Given the description of an element on the screen output the (x, y) to click on. 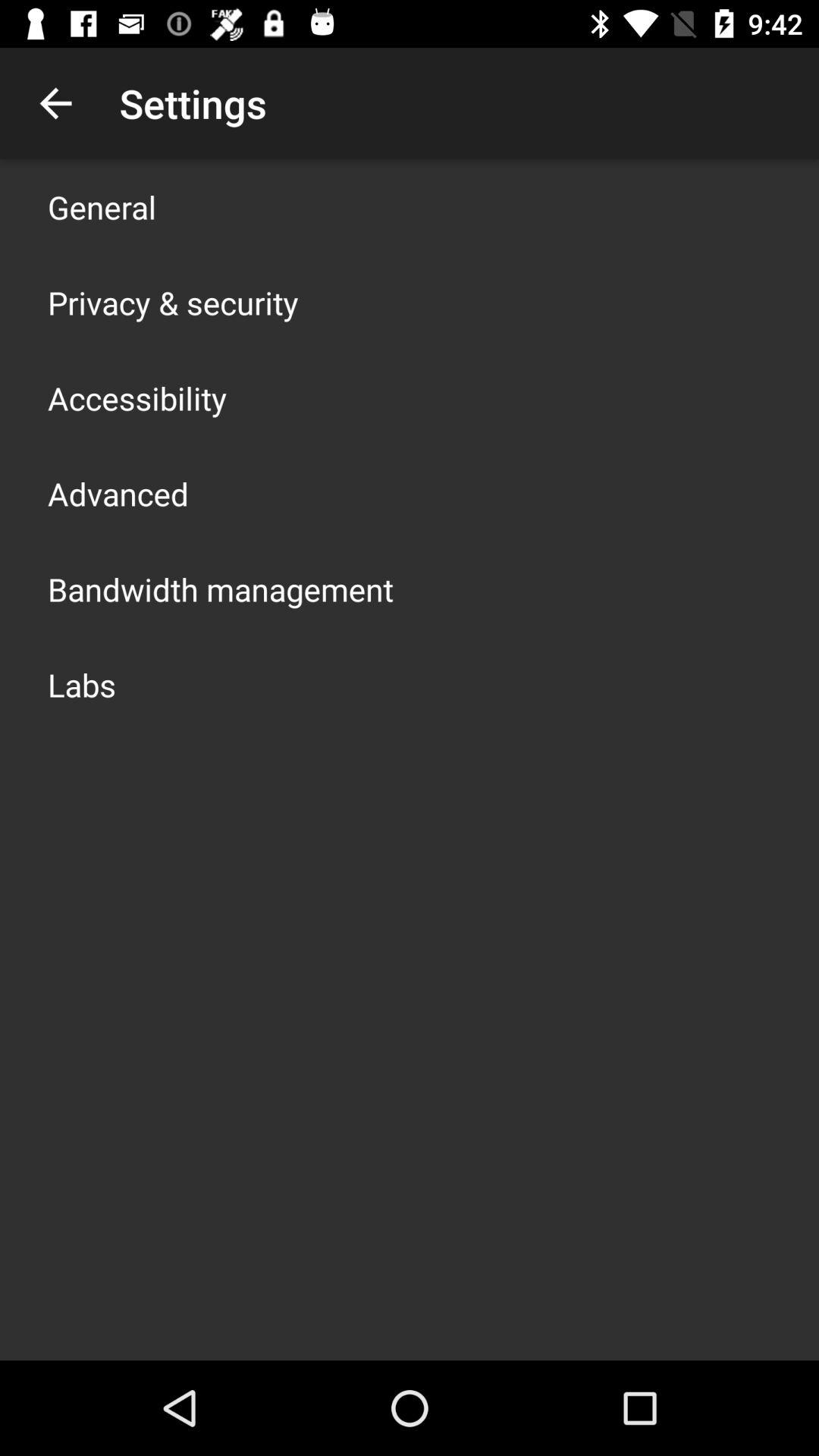
turn on the privacy & security item (172, 302)
